Given the description of an element on the screen output the (x, y) to click on. 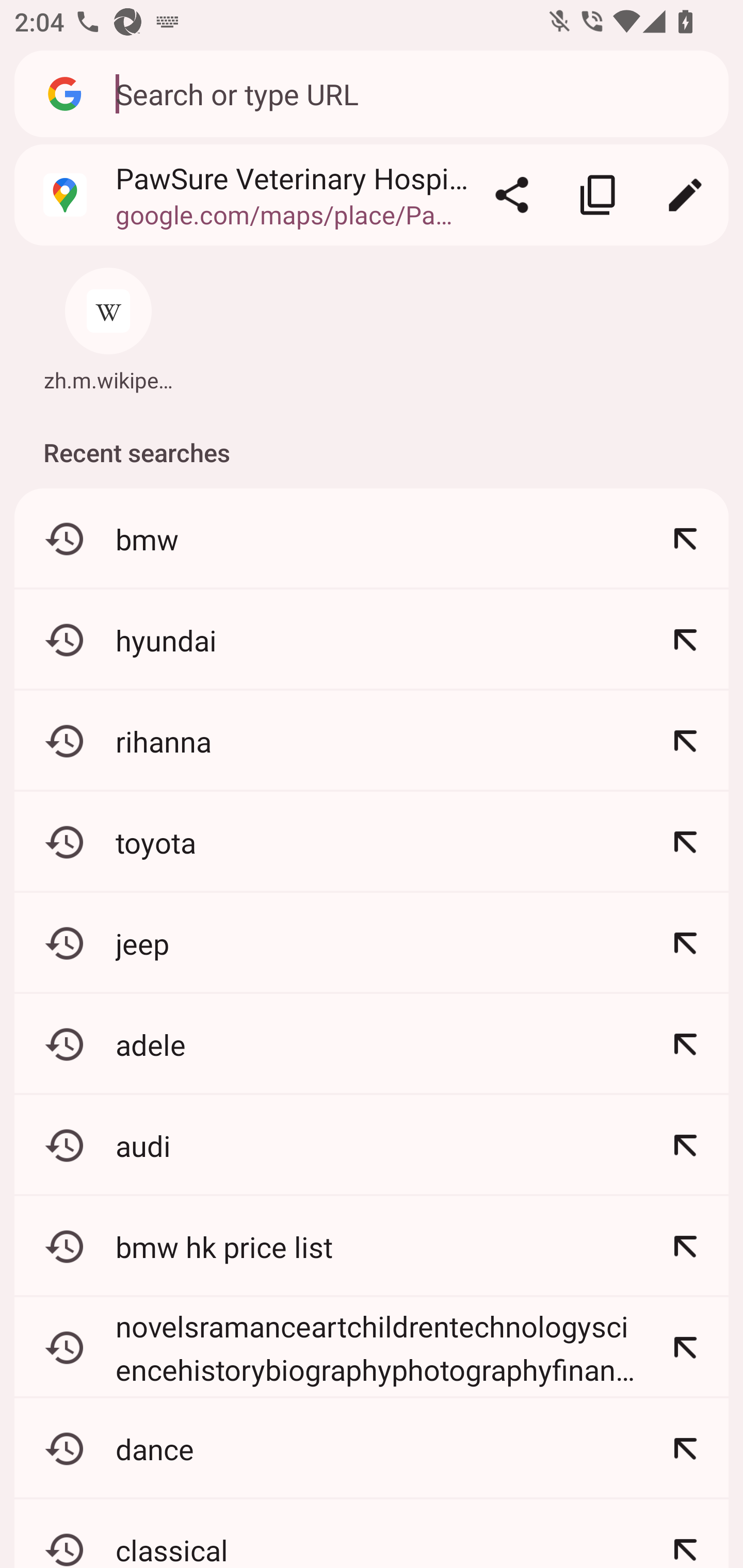
Search or type URL (410, 92)
Share… (511, 195)
Copy link (598, 195)
Edit (684, 195)
bmw Refine: bmw (371, 539)
Refine: bmw (684, 539)
hyundai Refine: hyundai (371, 639)
Refine: hyundai (684, 639)
rihanna Refine: rihanna (371, 740)
Refine: rihanna (684, 740)
toyota Refine: toyota (371, 841)
Refine: toyota (684, 841)
jeep Refine: jeep (371, 943)
Refine: jeep (684, 943)
adele Refine: adele (371, 1044)
Refine: adele (684, 1044)
audi Refine: audi (371, 1145)
Refine: audi (684, 1145)
bmw hk price list Refine: bmw hk price list (371, 1246)
Refine: bmw hk price list (684, 1246)
dance Refine: dance (371, 1448)
Refine: dance (684, 1448)
classical Refine: classical (371, 1533)
Refine: classical (684, 1533)
